Given the description of an element on the screen output the (x, y) to click on. 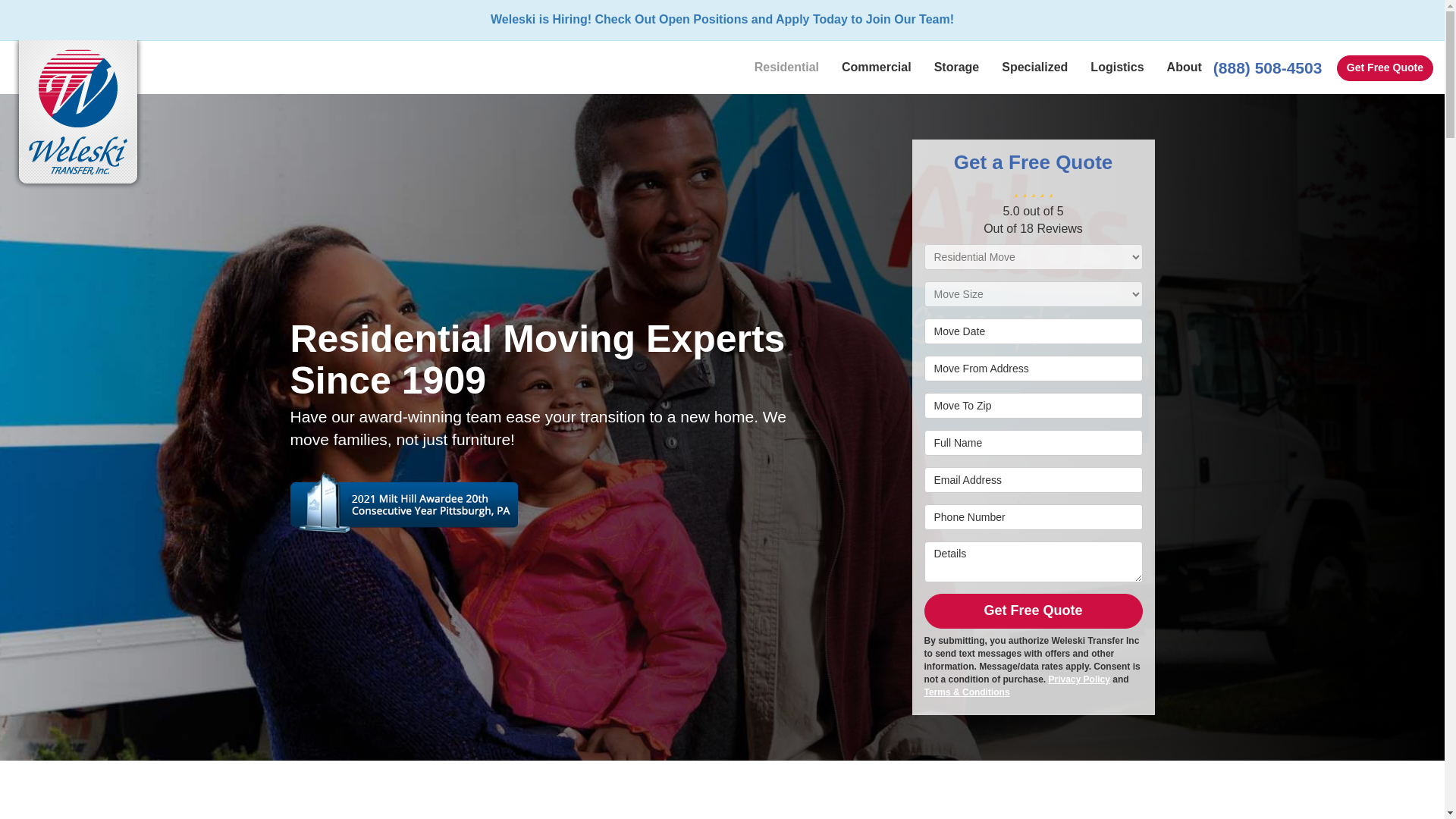
Commercial (876, 67)
About (1184, 67)
Residential (785, 67)
Storage (957, 67)
Get Free Quote (1384, 68)
Specialized (1034, 67)
Get Free Quote (1384, 68)
Logistics (1116, 67)
